Given the description of an element on the screen output the (x, y) to click on. 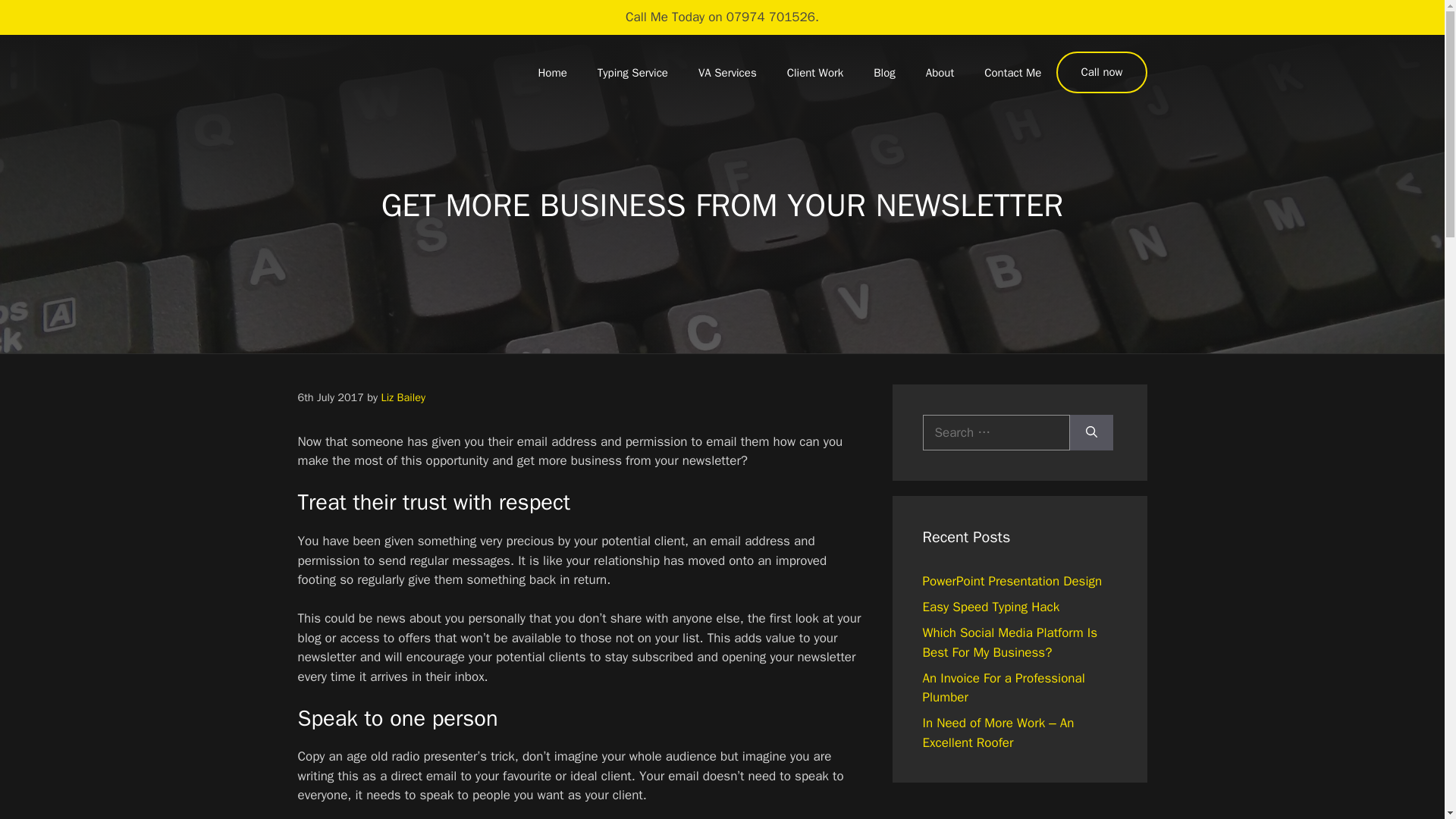
PowerPoint Presentation Design (1011, 580)
Call now (1102, 72)
Liz Bailey (402, 397)
Easy Speed Typing Hack (990, 606)
Blog (884, 72)
VA Services (726, 72)
View all posts by Liz Bailey (402, 397)
Search for: (994, 432)
Home (551, 72)
About (940, 72)
